Given the description of an element on the screen output the (x, y) to click on. 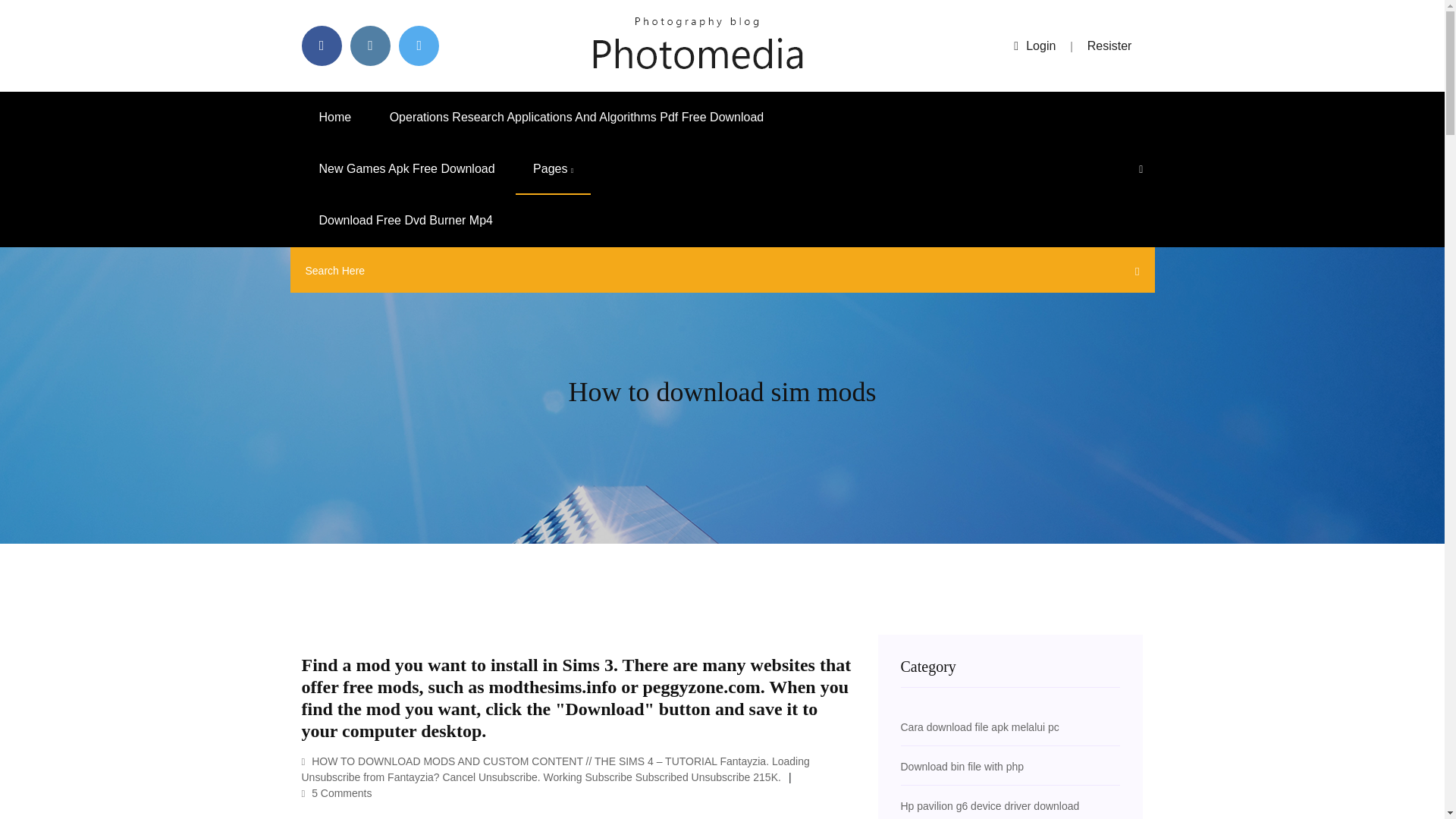
Home (335, 117)
Pages (553, 168)
Download Free Dvd Burner Mp4 (406, 220)
5 Comments (336, 793)
Login (1034, 45)
New Games Apk Free Download (406, 168)
Resister (1109, 45)
